Given the description of an element on the screen output the (x, y) to click on. 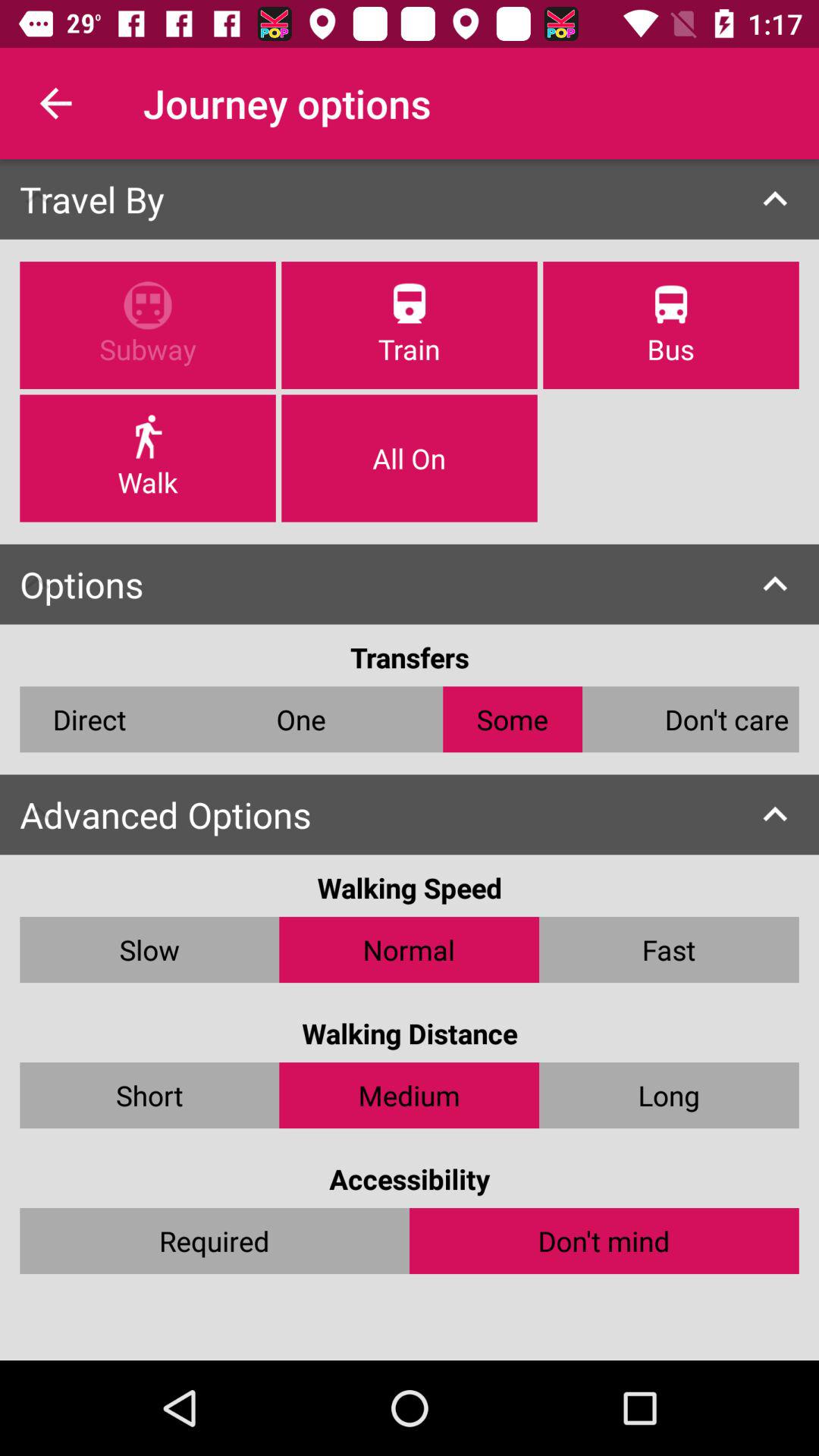
tap the item next to slow item (409, 949)
